Given the description of an element on the screen output the (x, y) to click on. 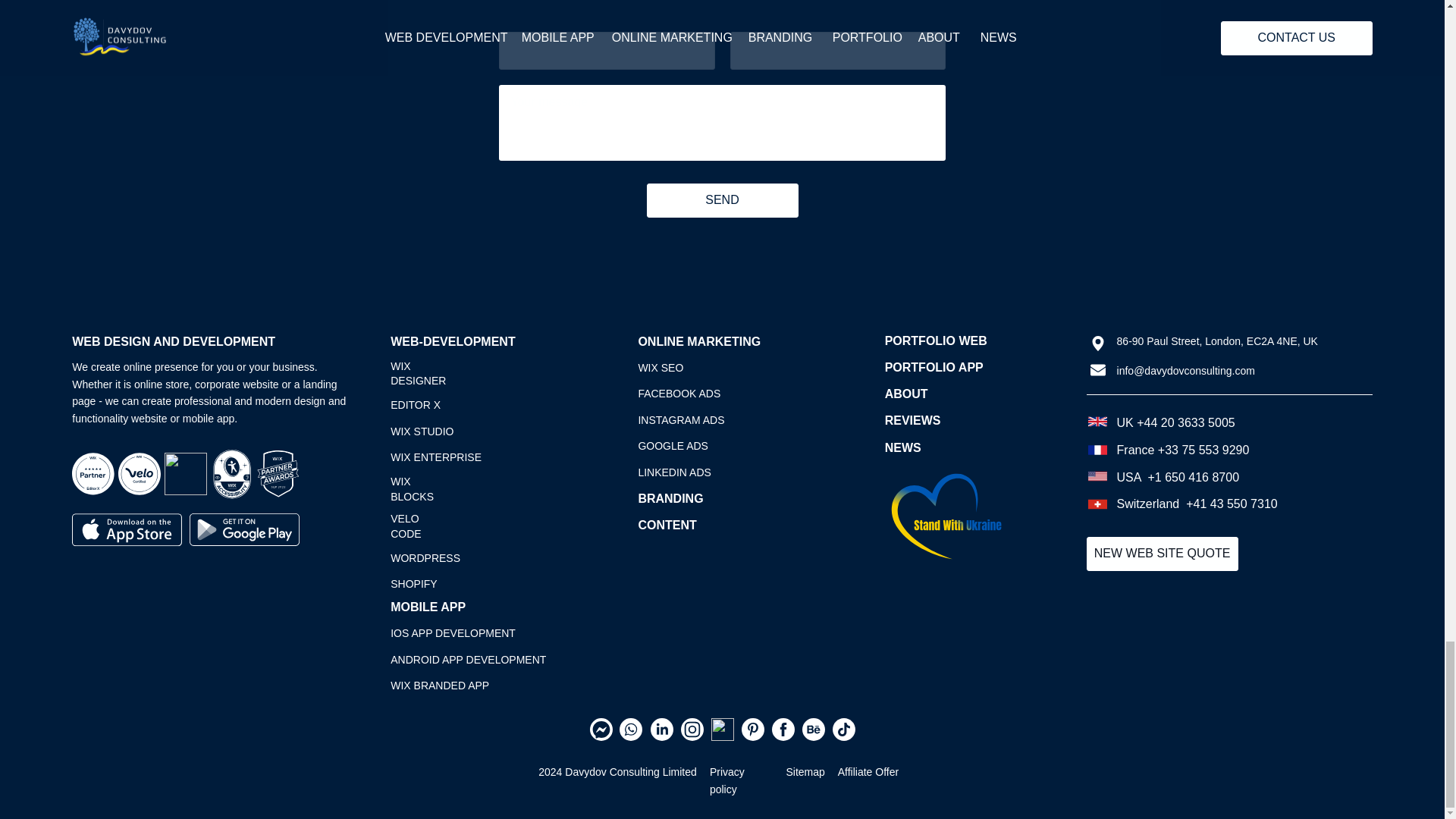
SEND (721, 200)
